Given the description of an element on the screen output the (x, y) to click on. 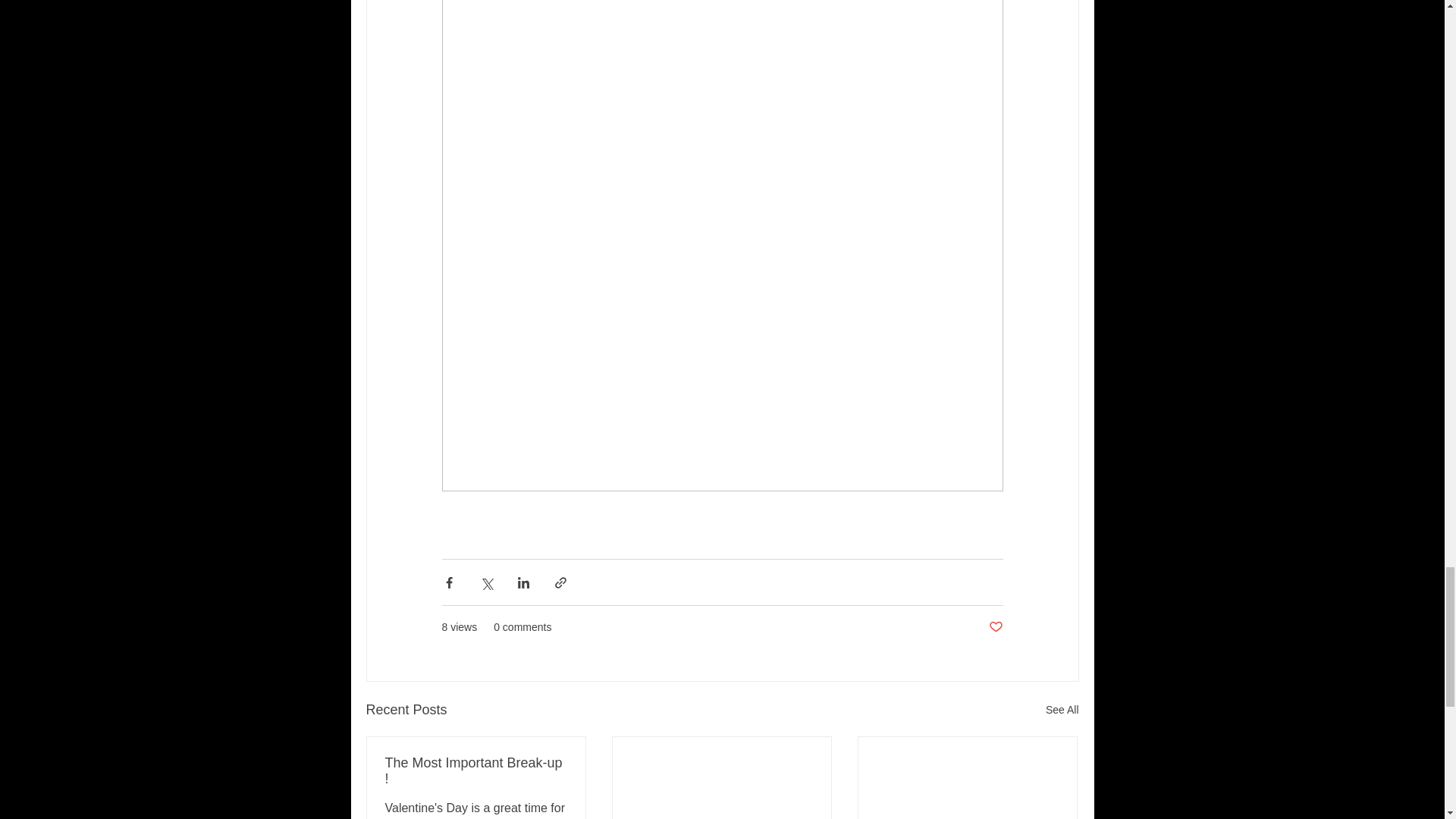
Post not marked as liked (995, 627)
See All (1061, 710)
The Most Important Break-up ! (476, 771)
